Given the description of an element on the screen output the (x, y) to click on. 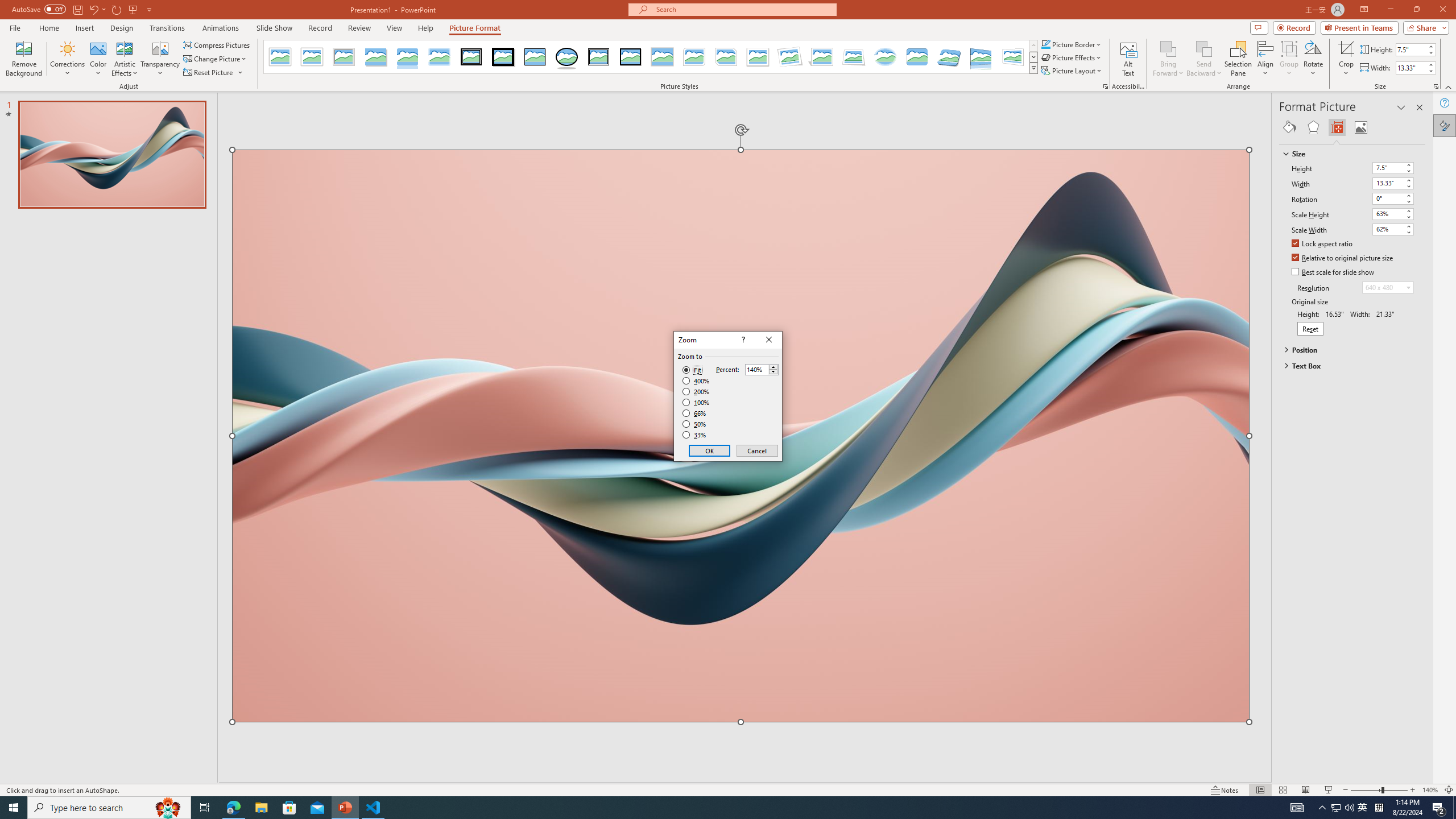
Picture... (1104, 85)
50% (694, 424)
